Given the description of an element on the screen output the (x, y) to click on. 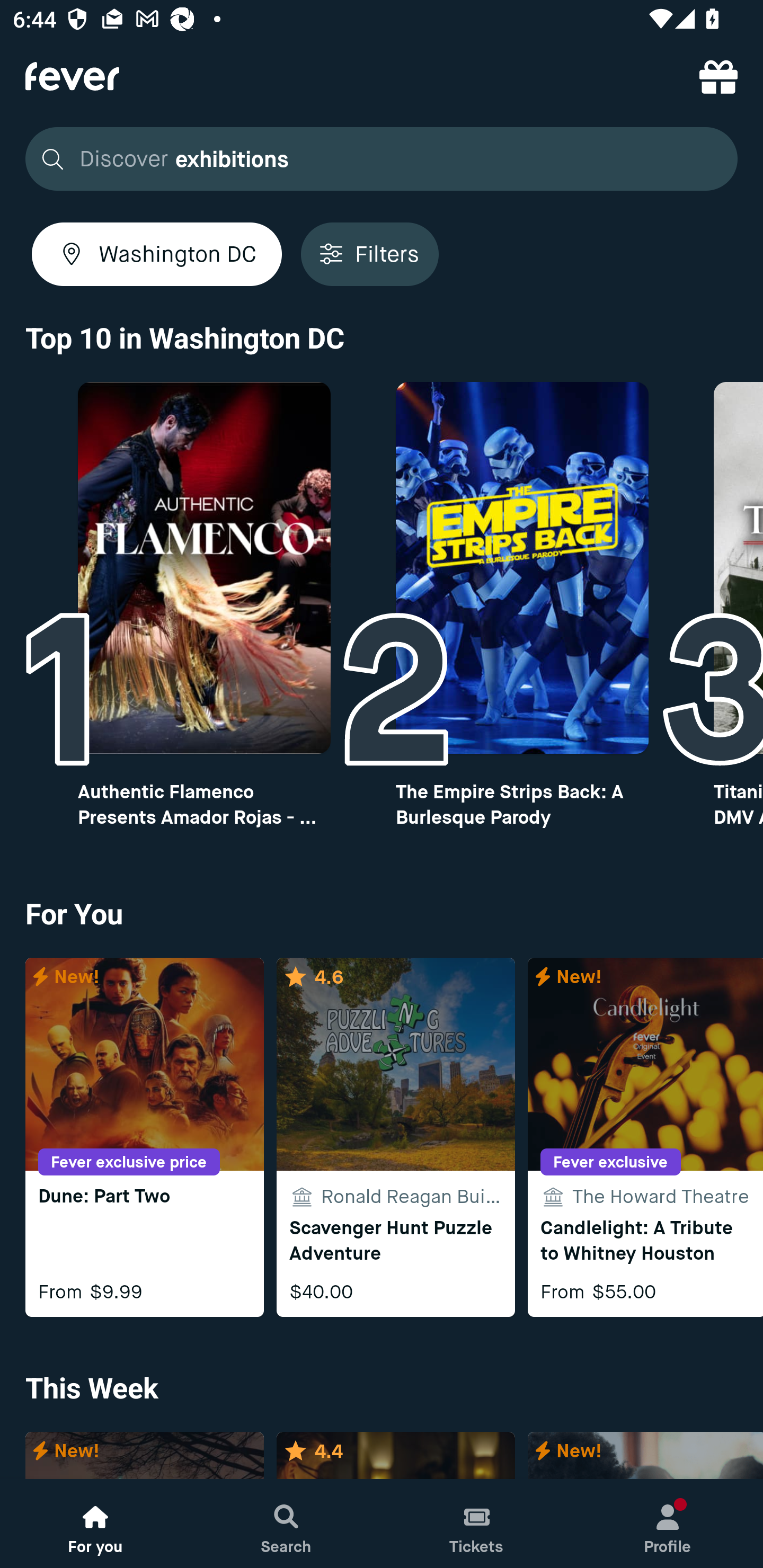
referral (718, 75)
Discover exhibitions (381, 158)
Discover exhibitions (376, 158)
Washington DC (156, 253)
Filters (369, 253)
Top10 image (203, 568)
Top10 image (521, 568)
Search (285, 1523)
Tickets (476, 1523)
Profile, New notification Profile (667, 1523)
